Given the description of an element on the screen output the (x, y) to click on. 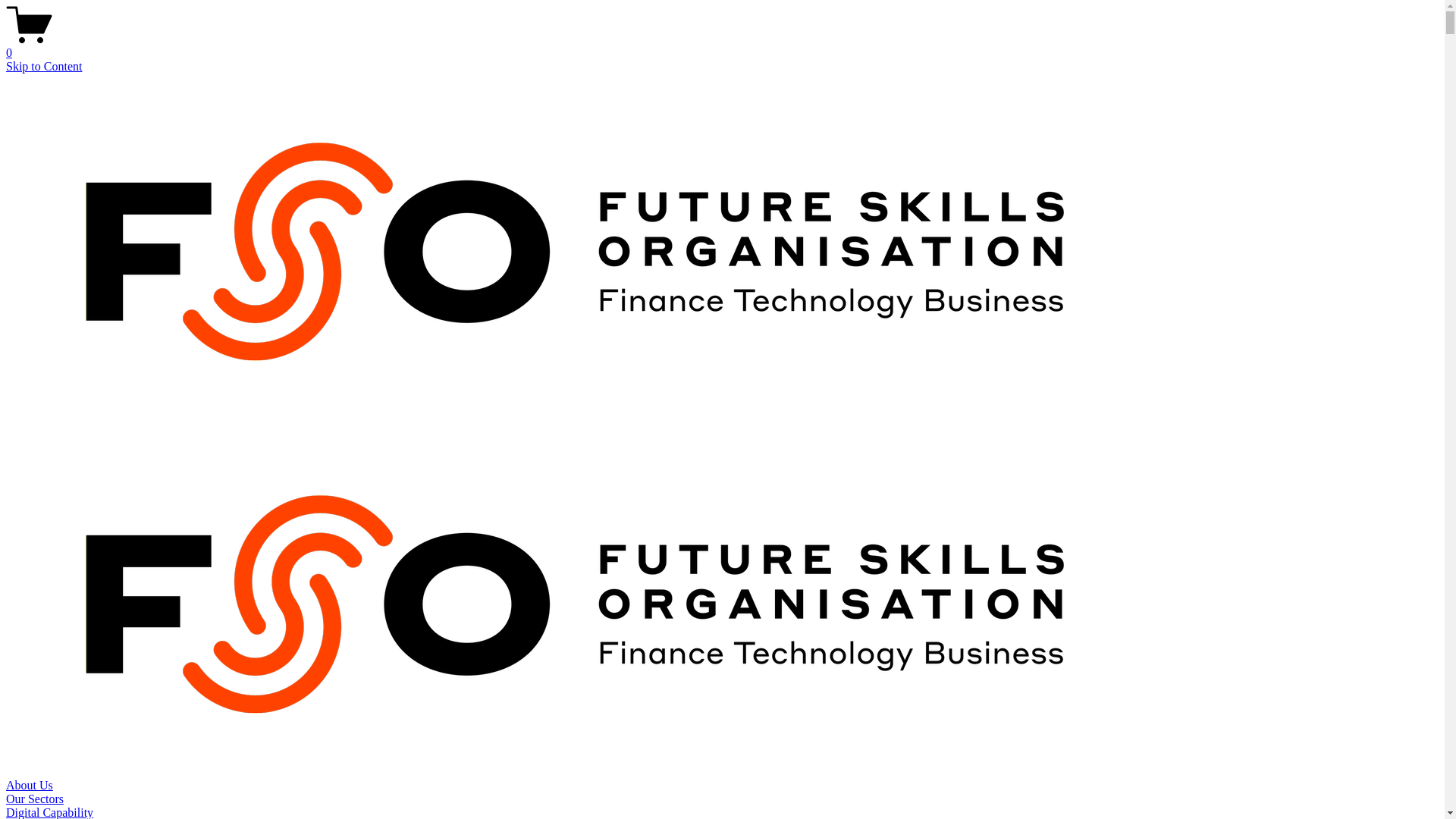
Skip to Content Element type: text (43, 65)
0 Element type: text (722, 45)
About Us Element type: text (29, 784)
Our Sectors Element type: text (34, 798)
